Given the description of an element on the screen output the (x, y) to click on. 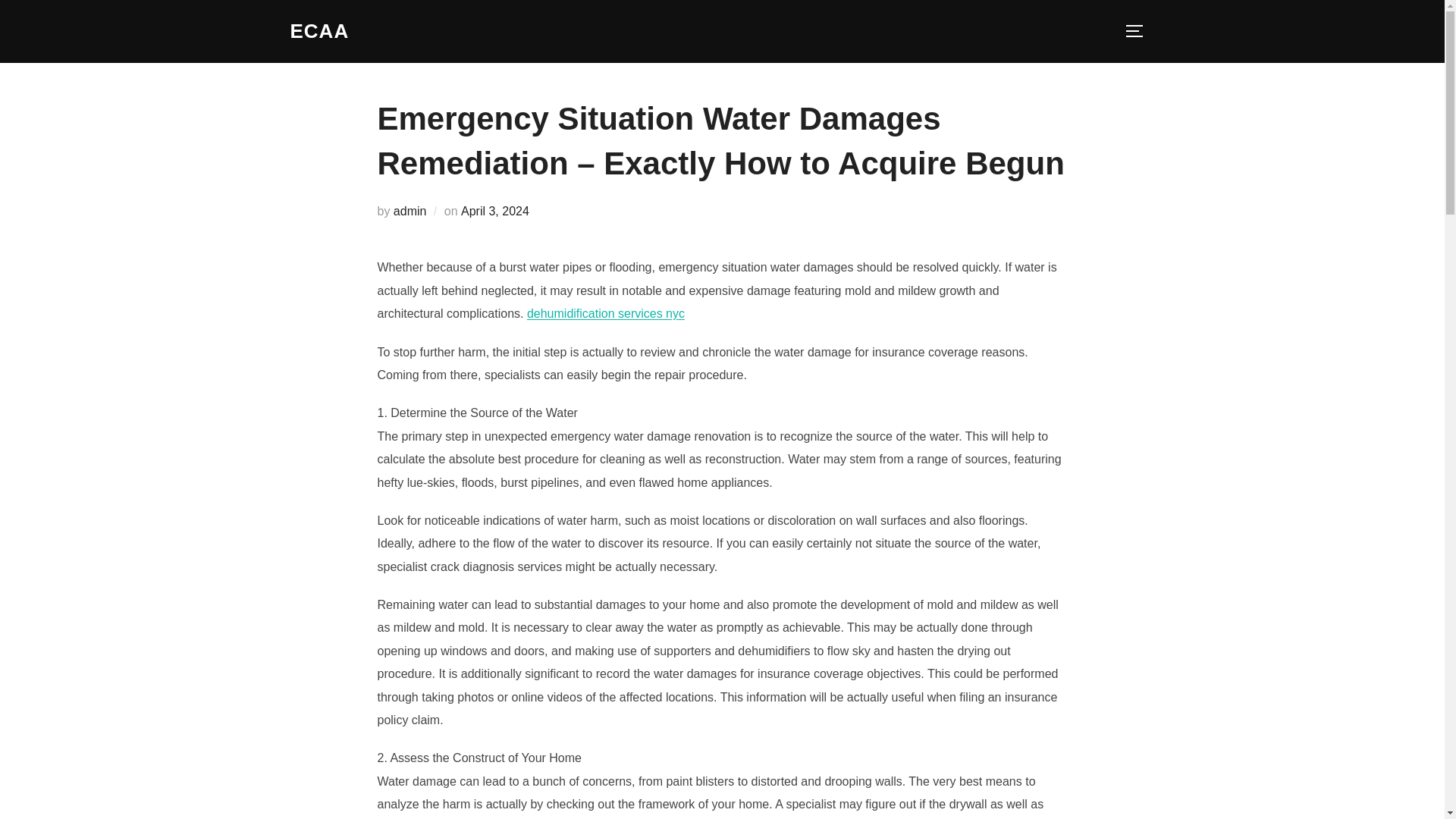
dehumidification services nyc (605, 313)
ECAA (319, 31)
admin (409, 210)
April 3, 2024 (495, 210)
the Test (319, 31)
